Given the description of an element on the screen output the (x, y) to click on. 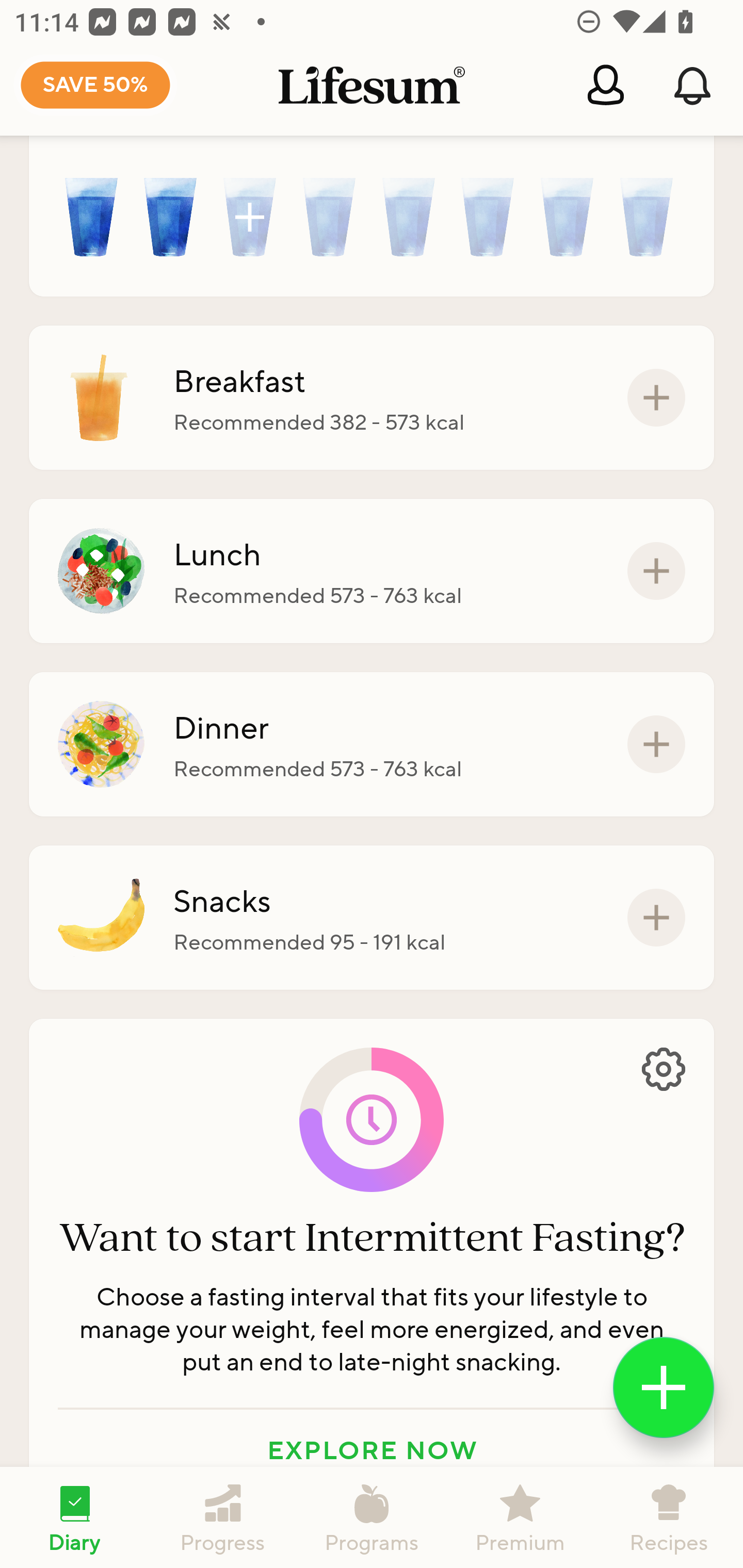
Breakfast Recommended 382 - 573 kcal (371, 398)
Lunch Recommended 573 - 763 kcal (371, 570)
Dinner Recommended 573 - 763 kcal (371, 744)
Snacks Recommended 95 - 191 kcal (371, 917)
EXPLORE NOW (371, 1449)
Progress (222, 1517)
Programs (371, 1517)
Premium (519, 1517)
Recipes (668, 1517)
